Given the description of an element on the screen output the (x, y) to click on. 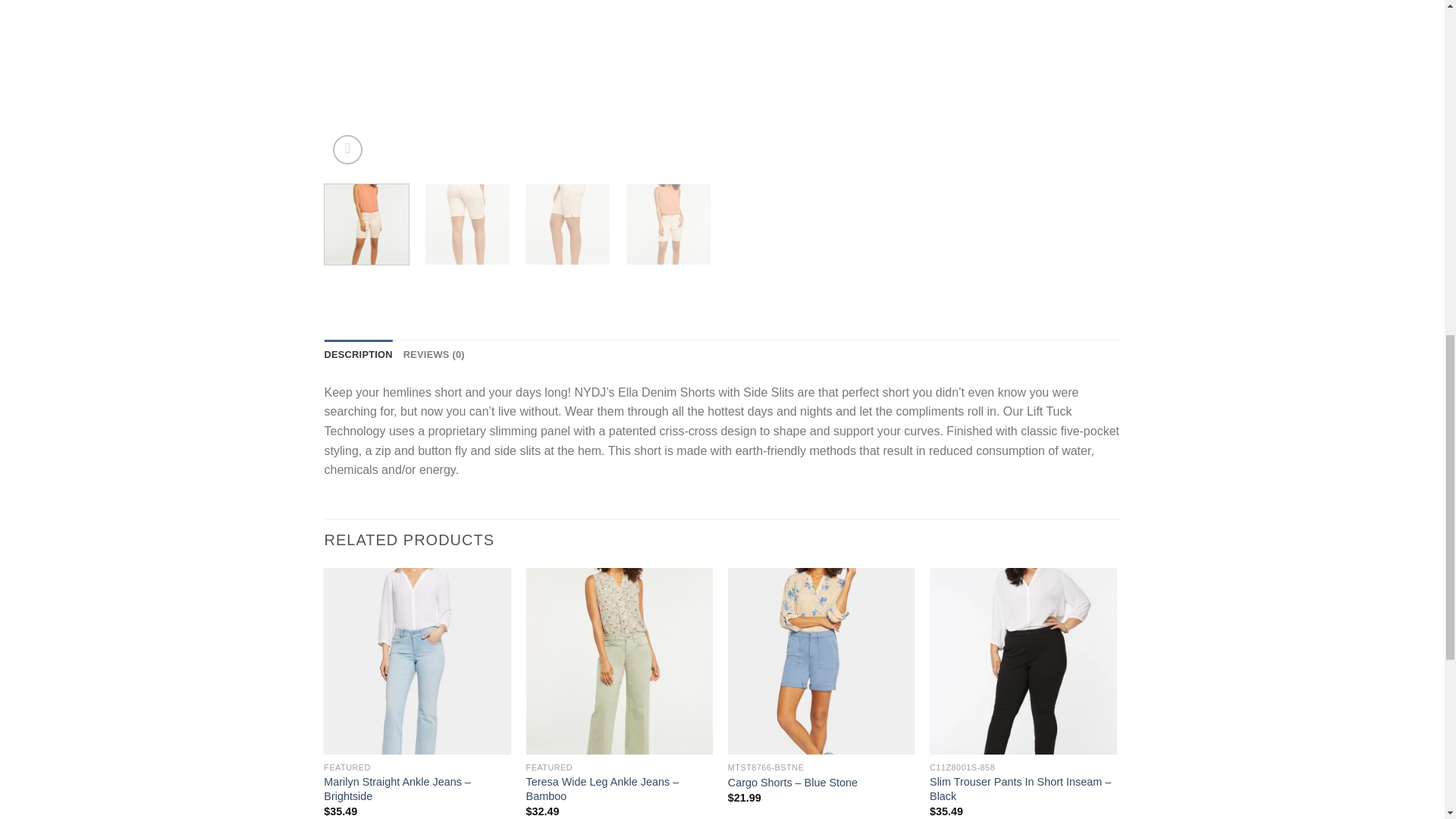
Zoom (347, 149)
